Given the description of an element on the screen output the (x, y) to click on. 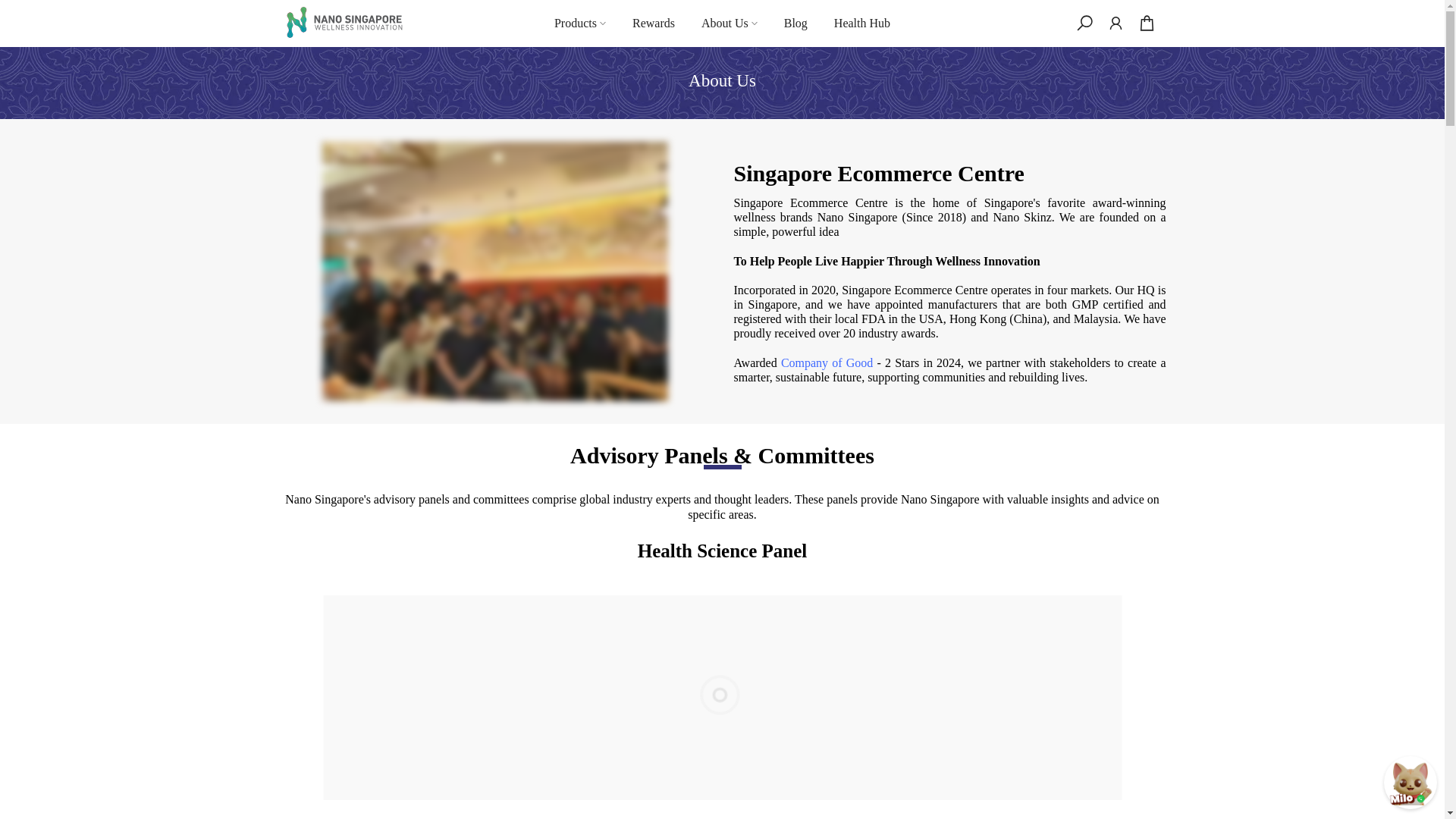
Products (579, 23)
Rewards (652, 23)
Health Hub (861, 23)
Company of Good (826, 362)
About Us (728, 23)
Blog (795, 23)
